Given the description of an element on the screen output the (x, y) to click on. 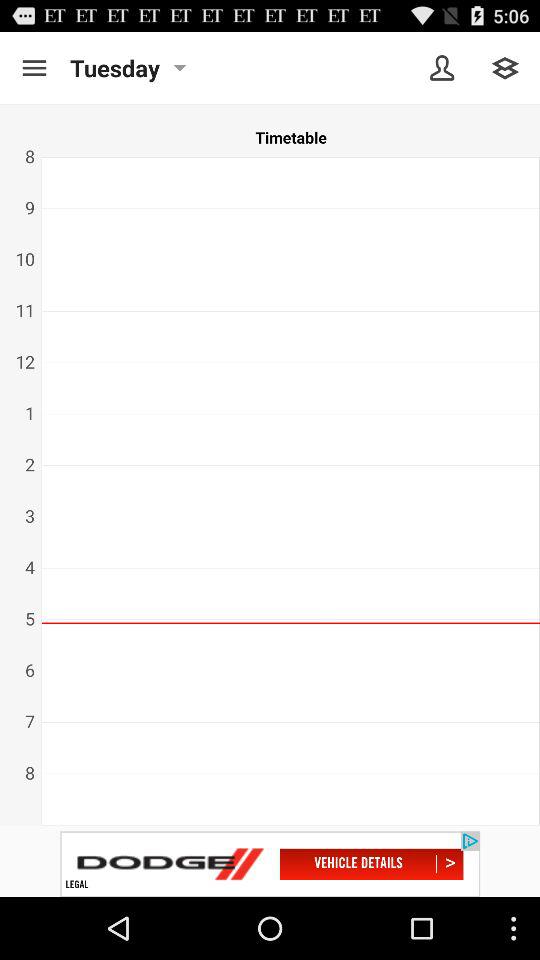
advertisement page (270, 864)
